Given the description of an element on the screen output the (x, y) to click on. 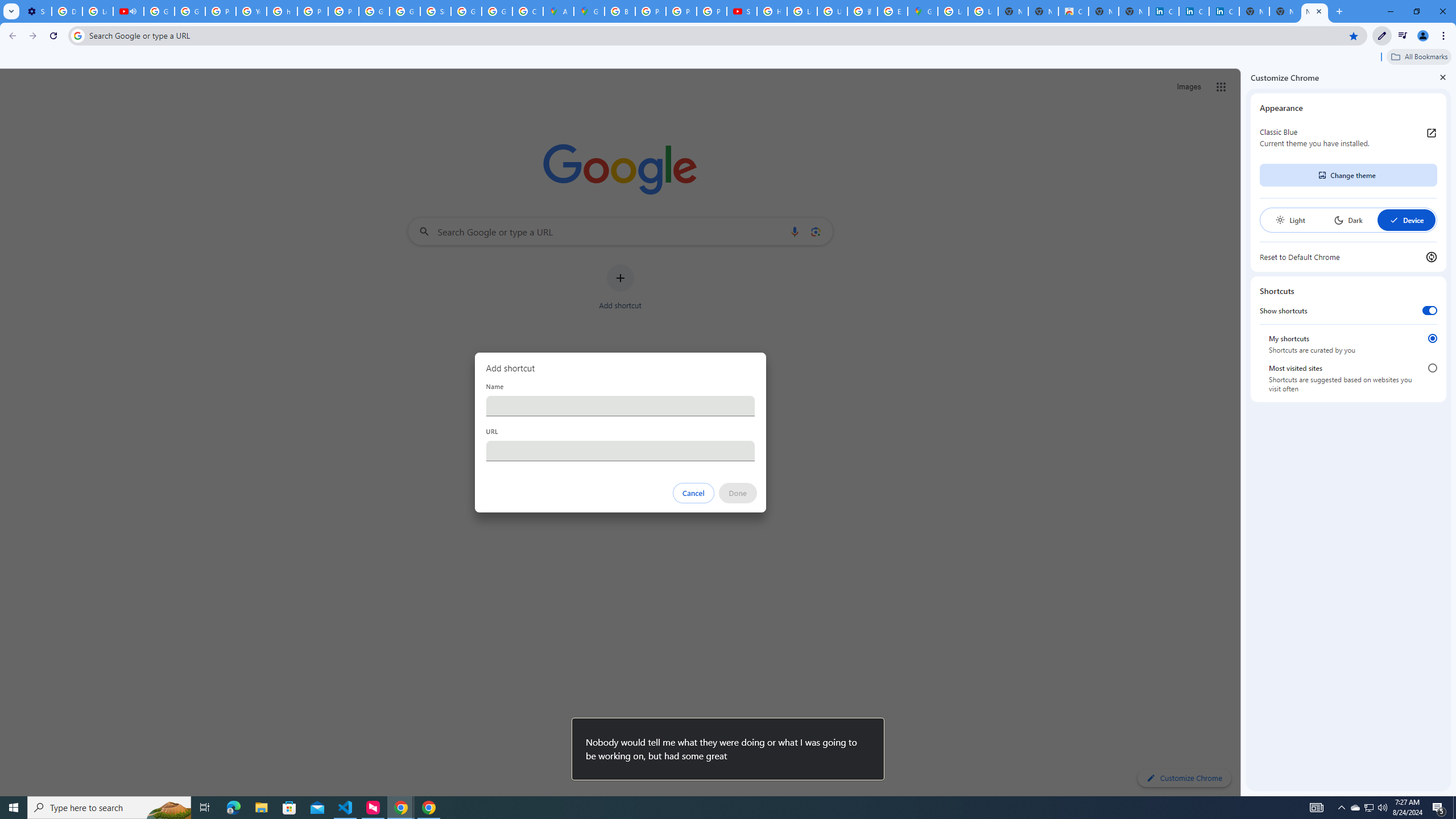
Cookie Policy | LinkedIn (1193, 11)
Done (737, 493)
Classic Blue Current theme you have installed. (1347, 137)
All Bookmarks (1418, 56)
Google Maps (922, 11)
AutomationID: baseSvg (1394, 219)
Customize Chrome (1382, 35)
Change theme (1348, 174)
Privacy Help Center - Policies Help (681, 11)
